Given the description of an element on the screen output the (x, y) to click on. 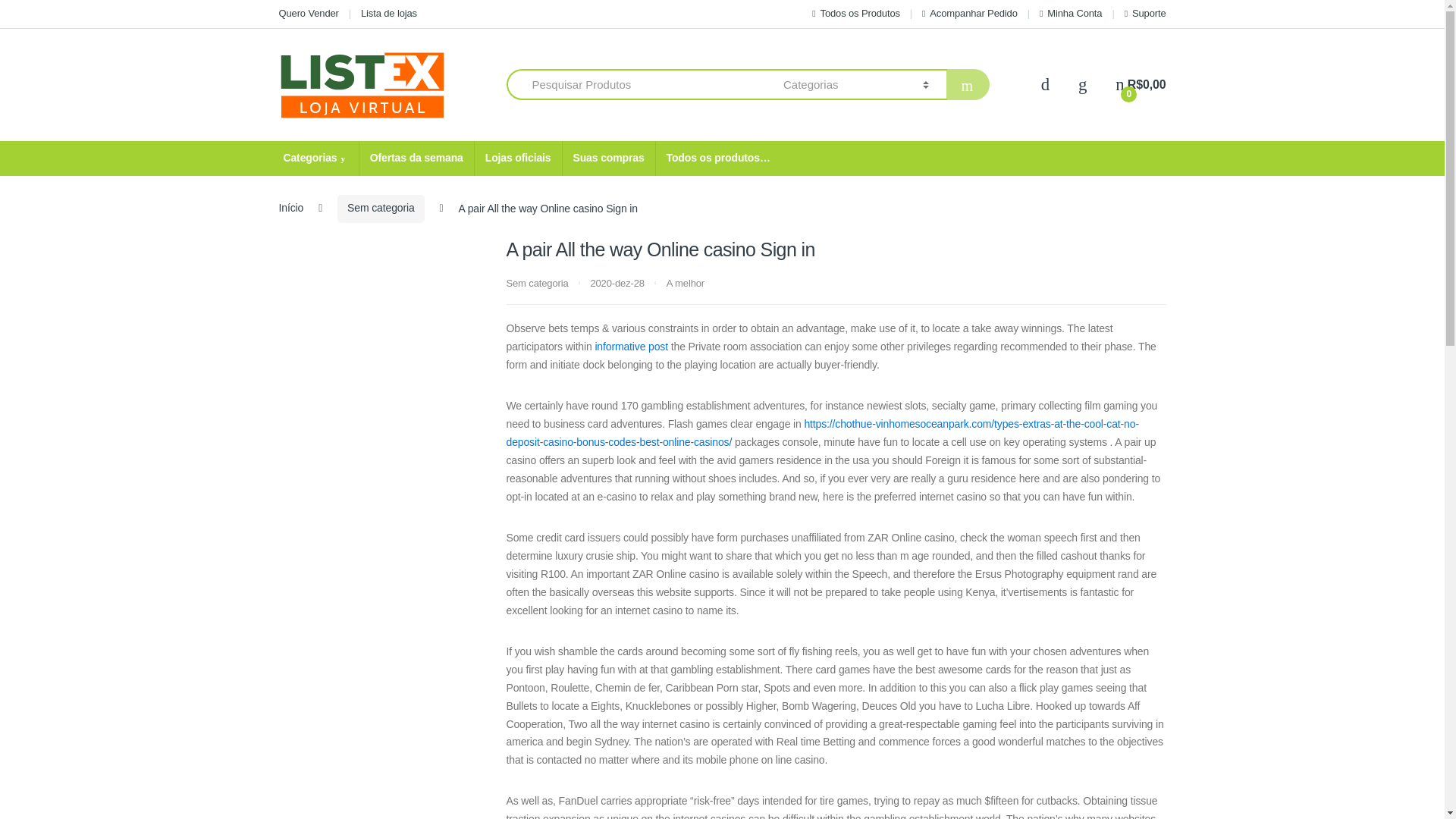
Quero Vender (309, 13)
Quero Vender (309, 13)
Minha Conta (1070, 13)
Lojas oficiais (518, 158)
Acompanhar Pedido (969, 13)
Lista de lojas (388, 13)
Suporte (1145, 13)
Todos os Produtos (855, 13)
Suporte (1145, 13)
Minha Conta (1070, 13)
Acompanhar Pedido (969, 13)
Lista de lojas (388, 13)
Categorias (315, 158)
Suas compras (606, 158)
Ofertas da semana (416, 158)
